Given the description of an element on the screen output the (x, y) to click on. 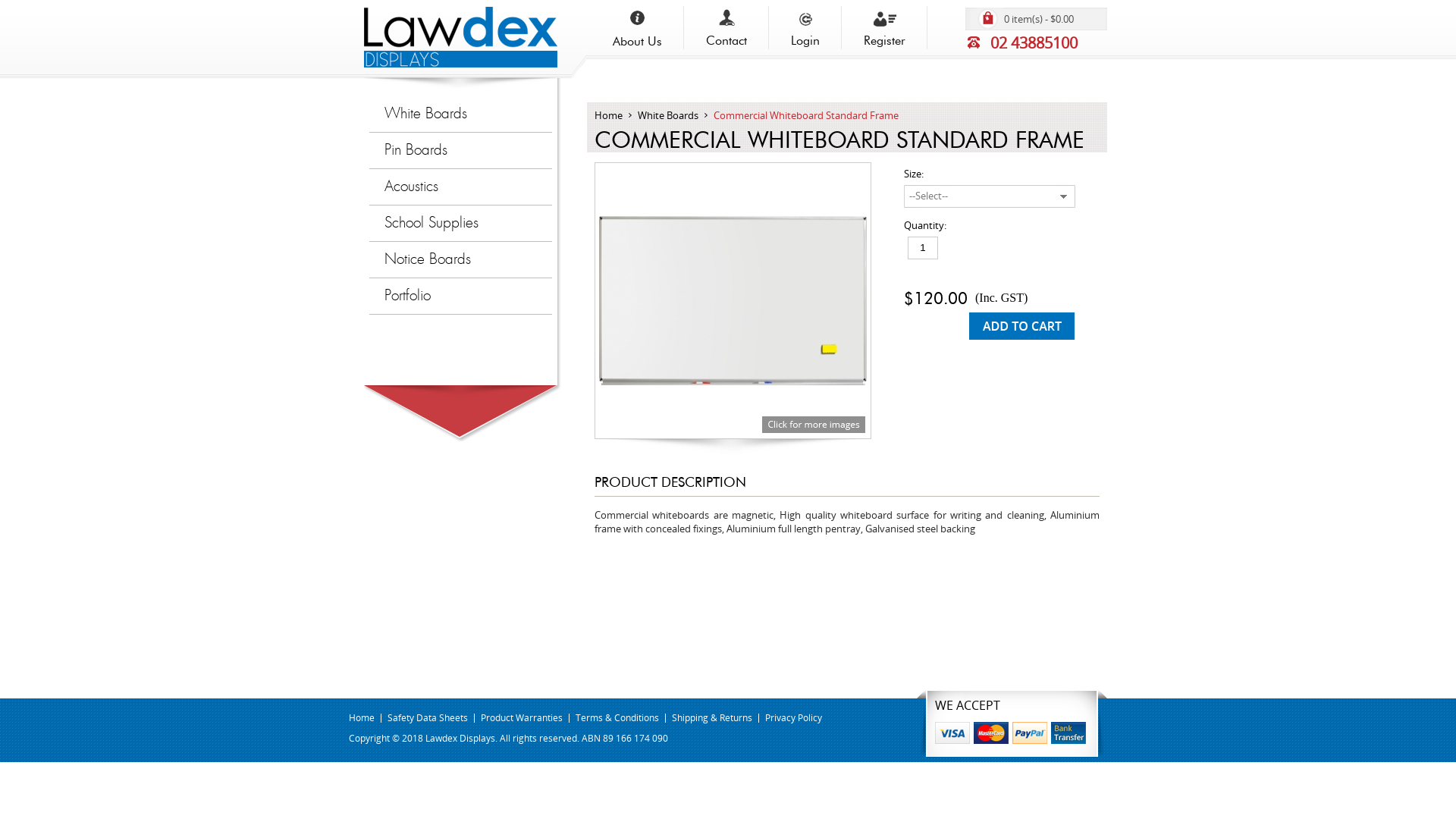
Bank Transfer Element type: hover (1070, 732)
Privacy Policy Element type: text (793, 717)
Terms & Conditions Element type: text (616, 717)
Notice Boards Element type: text (460, 259)
Safety Data Sheets Element type: text (427, 717)
0 item(s) - $0.00 Element type: text (1052, 18)
About Us Element type: text (637, 28)
Product Warranties Element type: text (521, 717)
White Boards Element type: text (667, 115)
Visa Element type: hover (954, 732)
Commercial Whiteboard Element type: hover (732, 300)
Lawdex Display Element type: hover (460, 62)
Add to cart Element type: hover (1021, 325)
Home Element type: text (608, 115)
02 43885100 Element type: text (1049, 41)
Login Element type: text (804, 28)
School Supplies Element type: text (460, 223)
White Boards Element type: text (460, 113)
MasterCard Element type: hover (992, 732)
Pin Boards Element type: text (460, 150)
Home Element type: text (361, 717)
Portfolio Element type: text (460, 295)
Acoustics Element type: text (460, 186)
Lawdex Displays Element type: hover (460, 36)
Register Element type: text (884, 28)
PayPal Element type: hover (1031, 732)
Shipping & Returns Element type: text (711, 717)
Contact Element type: text (726, 28)
